Given the description of an element on the screen output the (x, y) to click on. 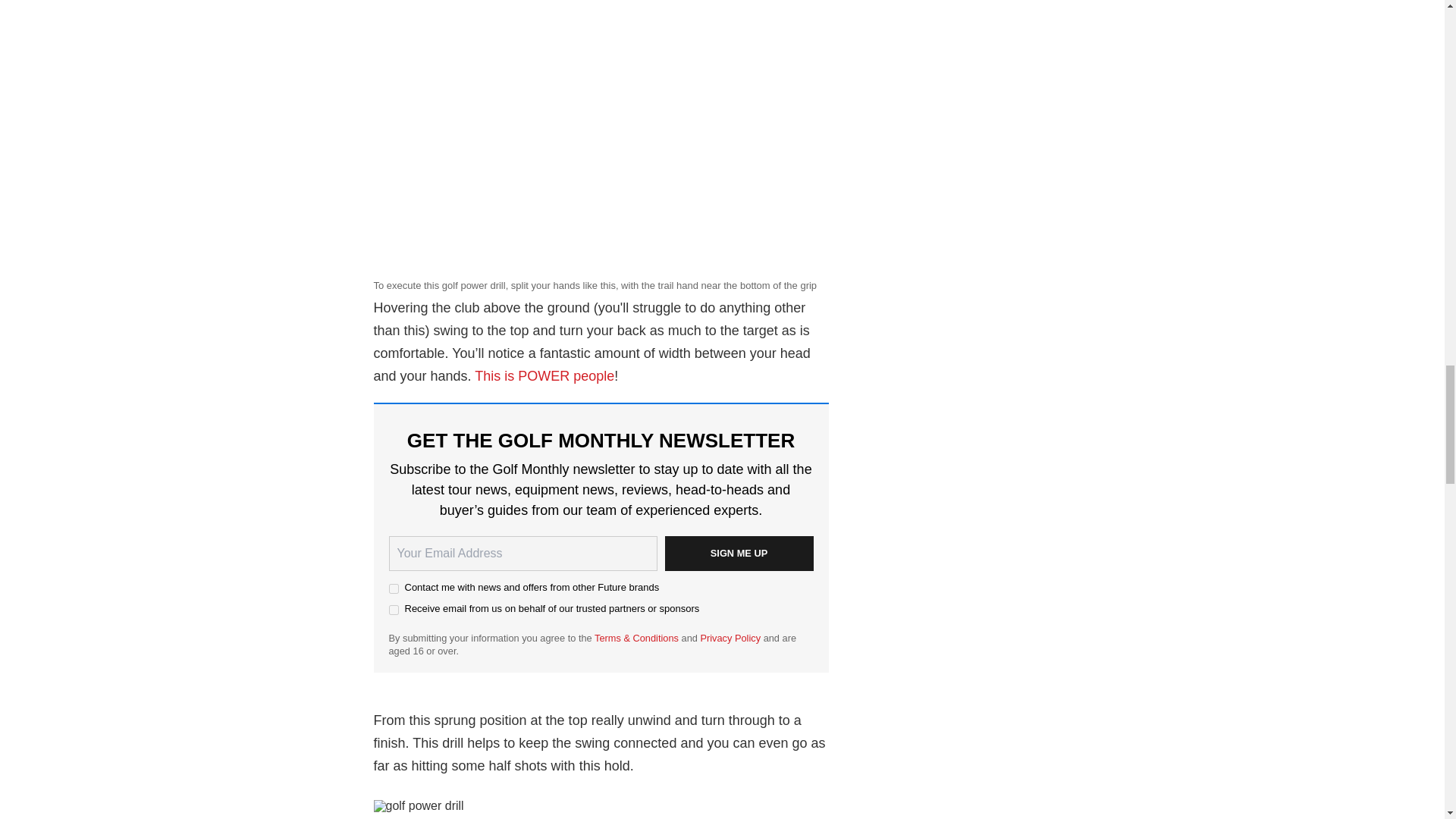
Sign me up (737, 553)
on (392, 588)
on (392, 610)
